Given the description of an element on the screen output the (x, y) to click on. 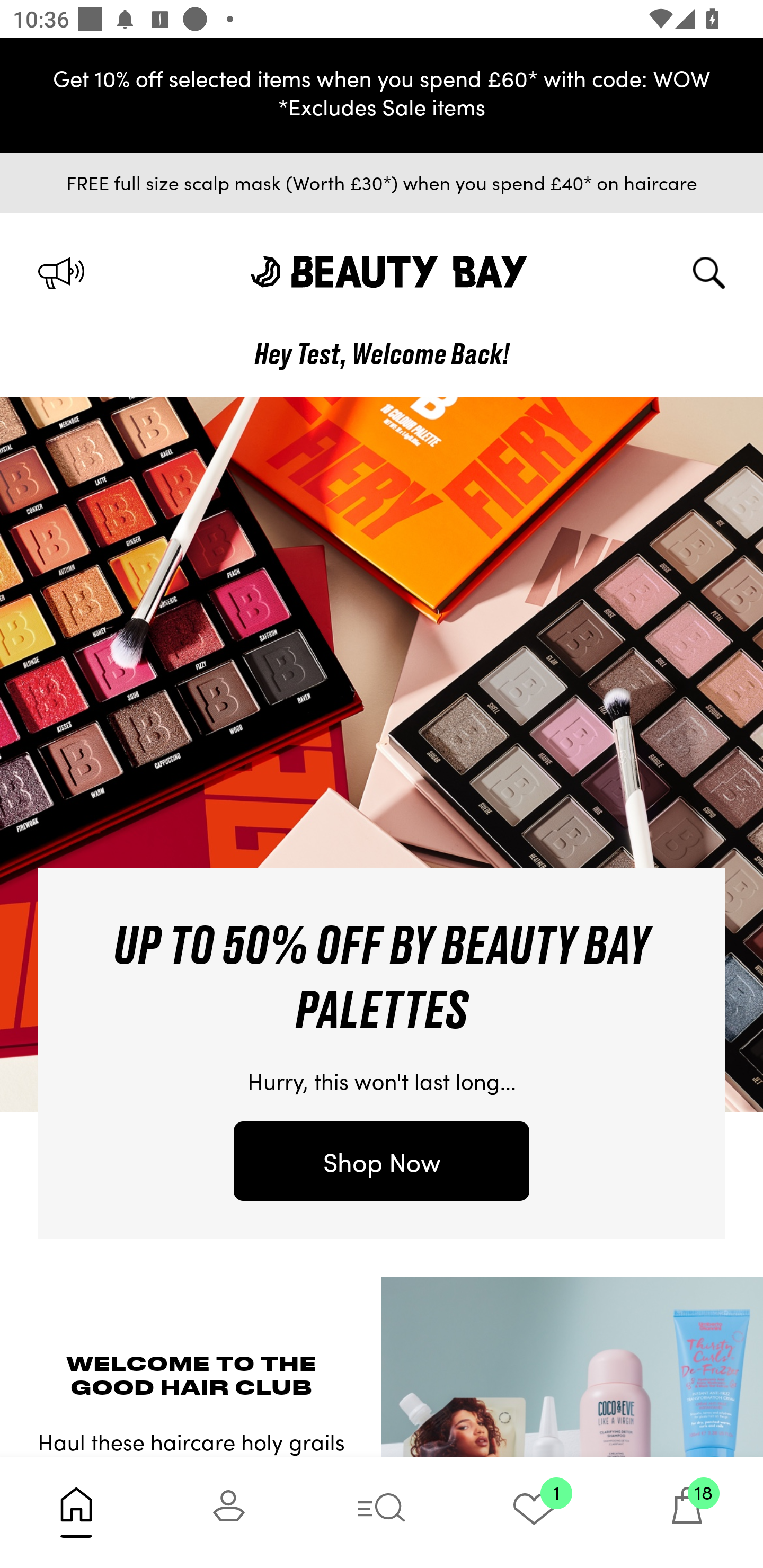
1 (533, 1512)
18 (686, 1512)
